Given the description of an element on the screen output the (x, y) to click on. 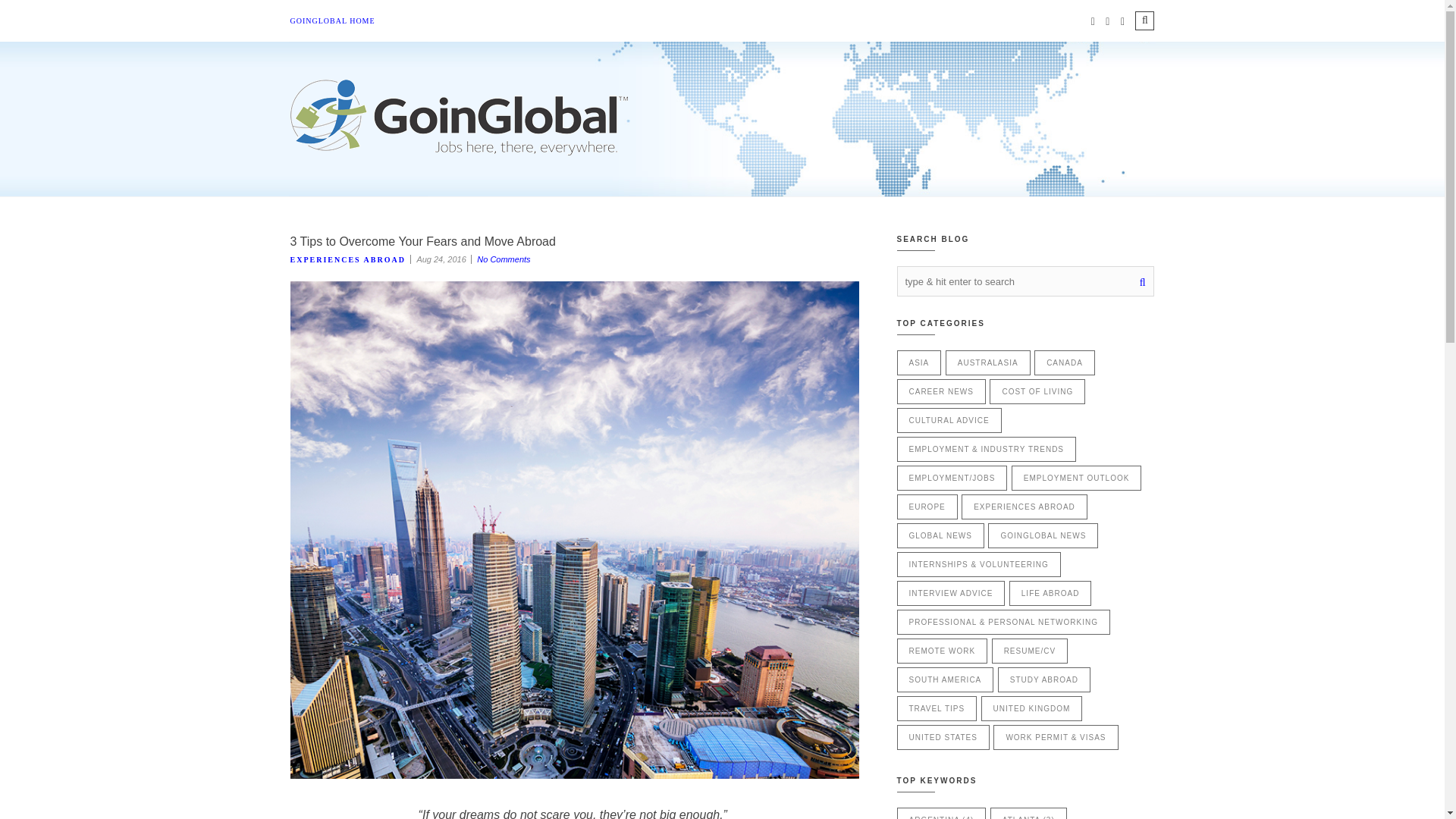
EXPERIENCES ABROAD (346, 259)
CULTURAL ADVICE (948, 420)
INTERVIEW ADVICE (950, 593)
COST OF LIVING (1037, 391)
EUROPE (926, 506)
AUSTRALASIA (987, 362)
EXPERIENCES ABROAD (1023, 506)
CAREER NEWS (940, 391)
GLOBAL NEWS (940, 535)
GOINGLOBAL HOME (331, 21)
CANADA (1063, 362)
Search (1144, 20)
GOINGLOBAL NEWS (1042, 535)
ASIA (918, 362)
No Comments (503, 258)
